Given the description of an element on the screen output the (x, y) to click on. 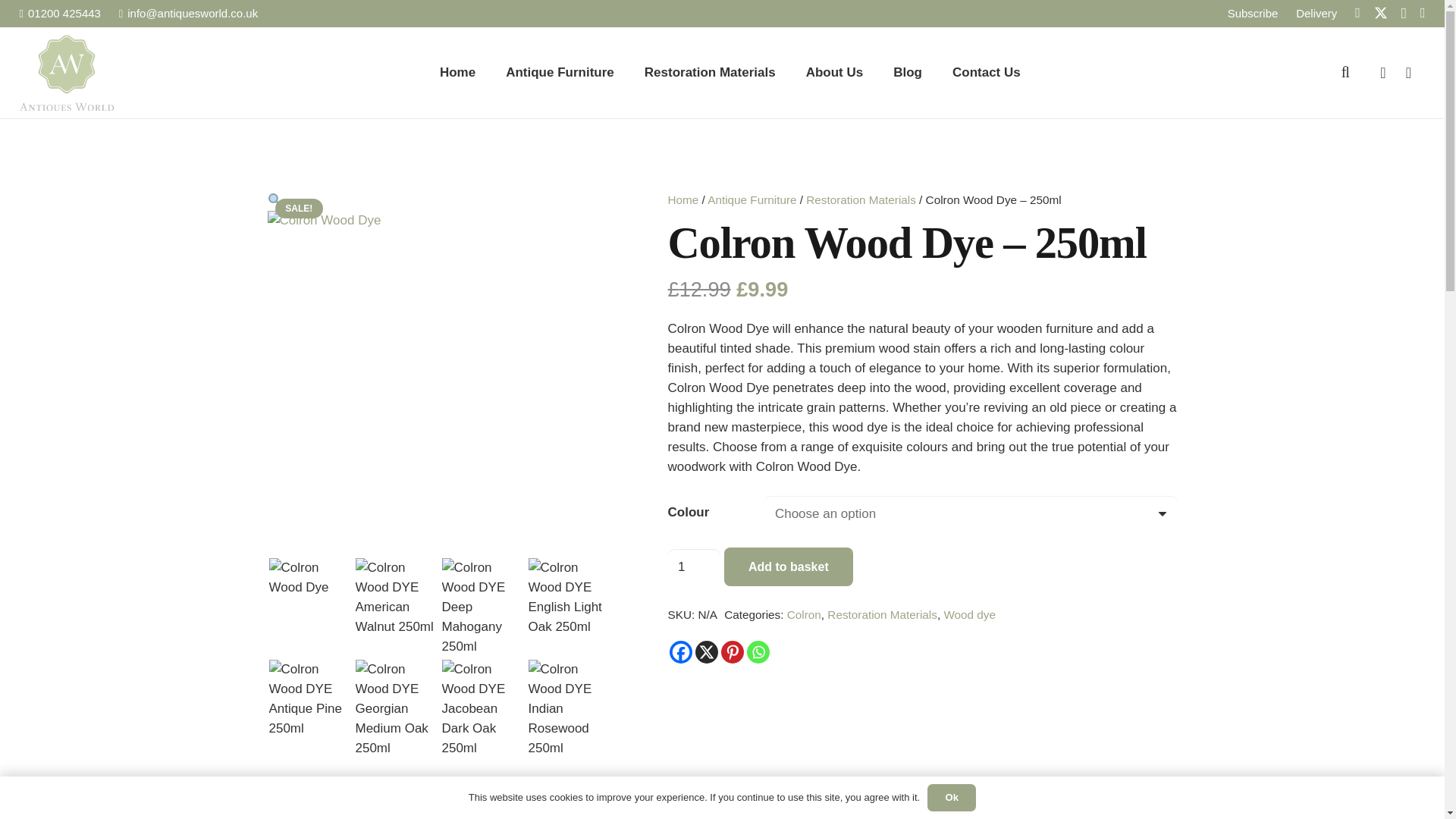
1 (693, 566)
X (705, 651)
01200 425443 (60, 12)
Facebook (679, 651)
Colron Wood Dye (439, 383)
Delivery (1315, 12)
Antique Furniture (559, 72)
Restoration Materials (709, 72)
Subscribe (1252, 12)
Twitter (1380, 12)
